Given the description of an element on the screen output the (x, y) to click on. 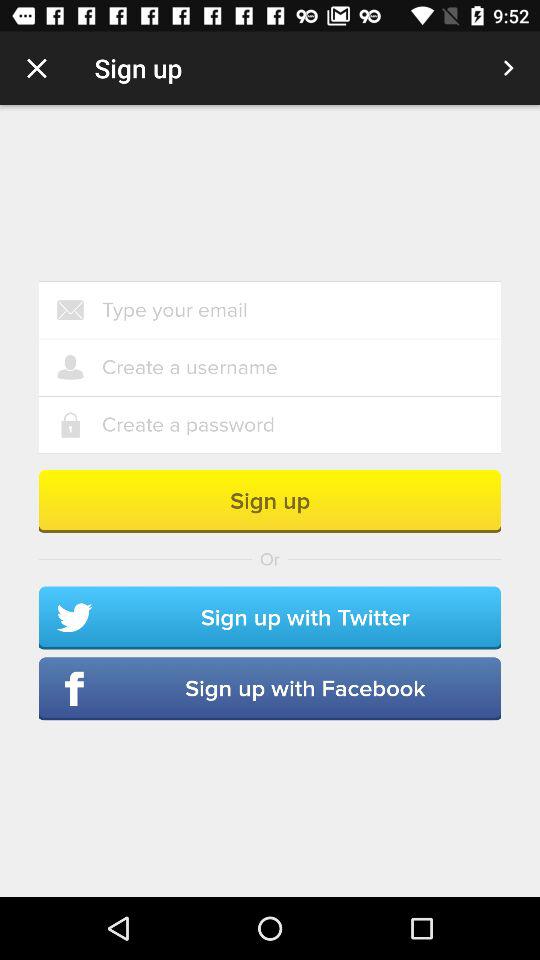
turn off the icon to the right of the sign up icon (508, 67)
